Given the description of an element on the screen output the (x, y) to click on. 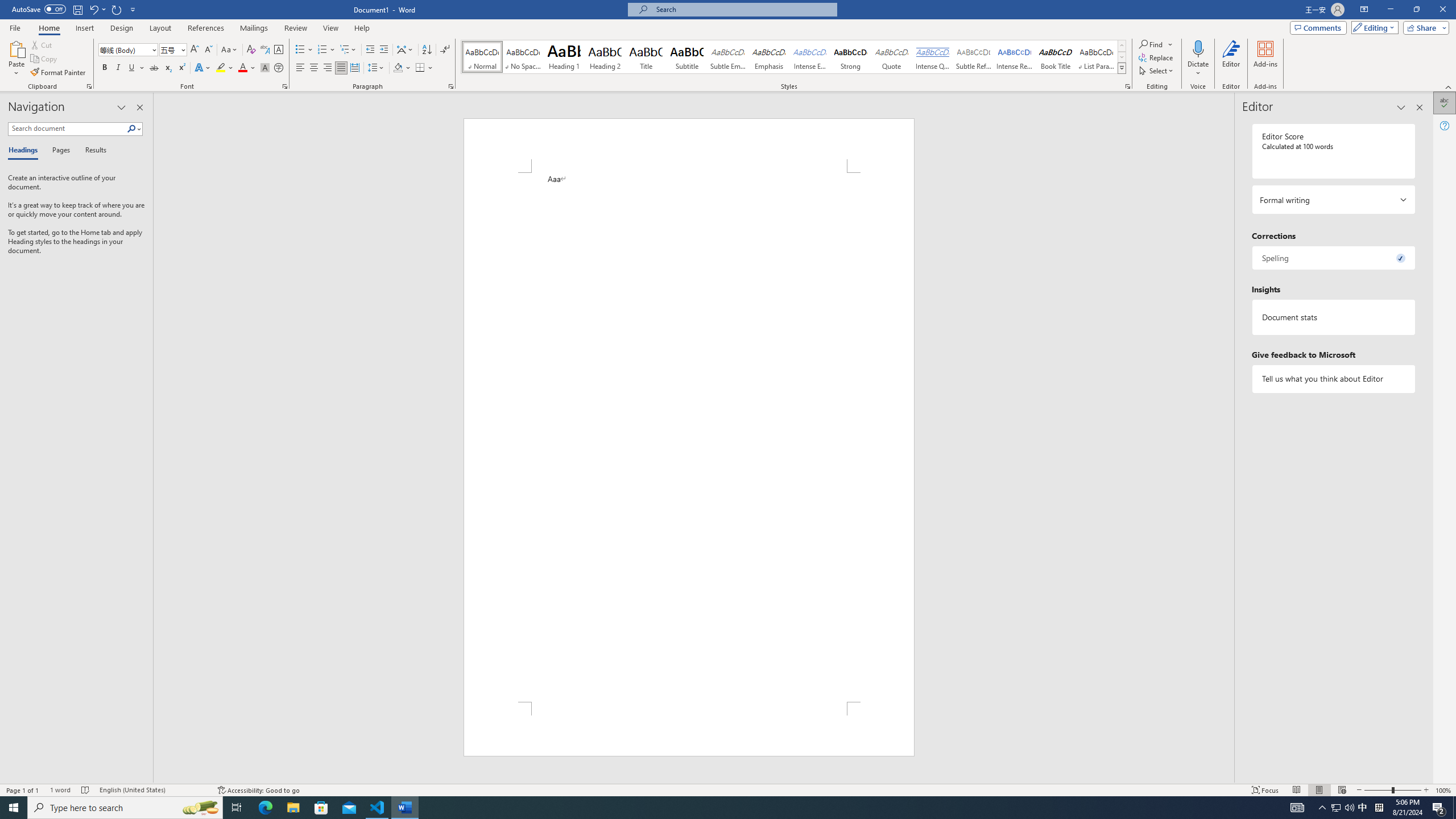
Format Painter (58, 72)
Text Highlight Color (224, 67)
Font Color Red (241, 67)
Intense Quote (932, 56)
Decrease Indent (370, 49)
Tell us what you think about Editor (1333, 379)
Copy (45, 58)
Center (313, 67)
